Given the description of an element on the screen output the (x, y) to click on. 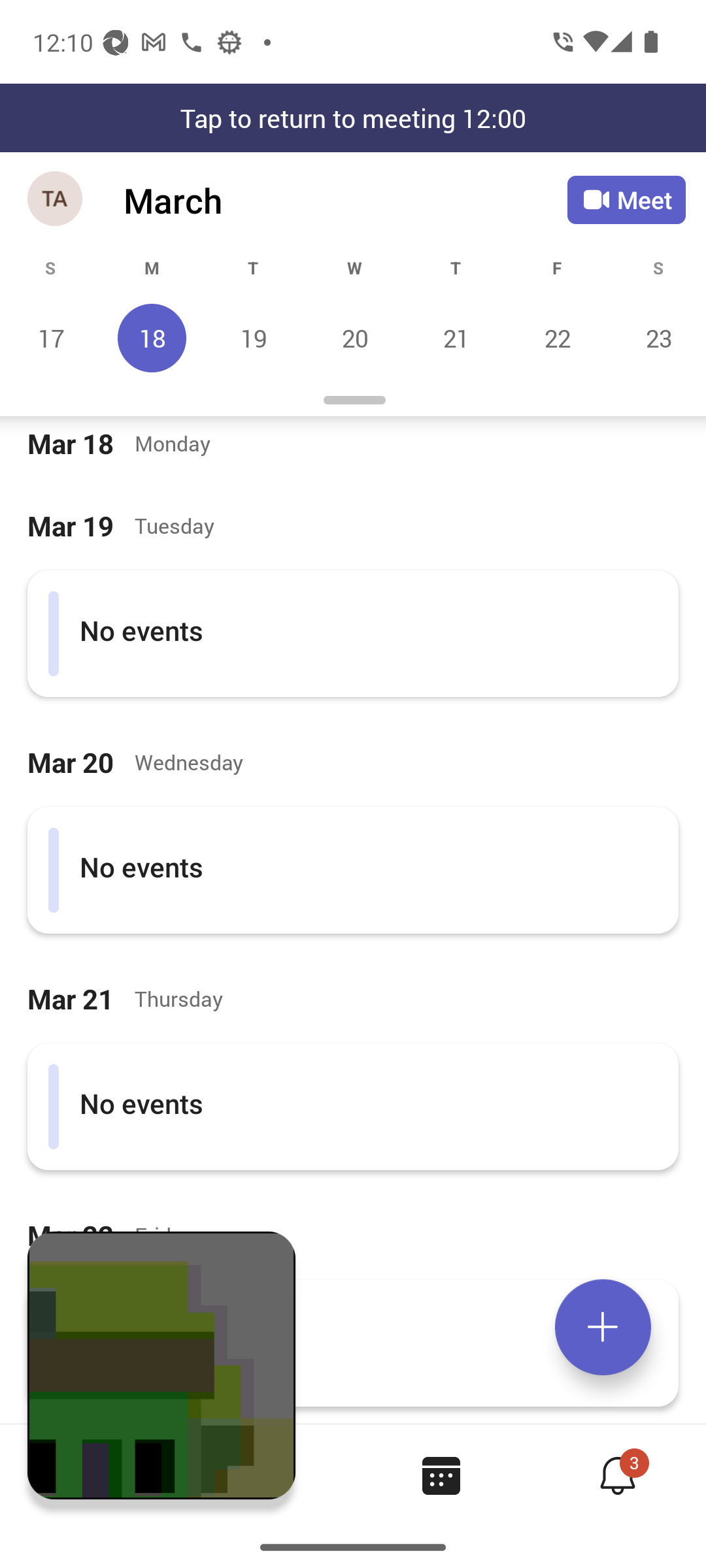
Tap to return to meeting 12:00 (353, 117)
Navigation (56, 199)
Meet Meet now or join with an ID (626, 199)
March March Calendar Agenda View (345, 199)
Sunday, March 17 17 (50, 337)
Monday, March 18, Selected 18 (151, 337)
Tuesday, March 19 19 (253, 337)
Wednesday, March 20 20 (354, 337)
Thursday, March 21 21 (455, 337)
Friday, March 22 22 (556, 337)
Saturday, March 23 23 (656, 337)
Expand meetings menu (602, 1327)
Calendar tab, 3 of 4 (441, 1475)
Activity tab,4 of 4, not selected, 3 new 3 (617, 1475)
